Given the description of an element on the screen output the (x, y) to click on. 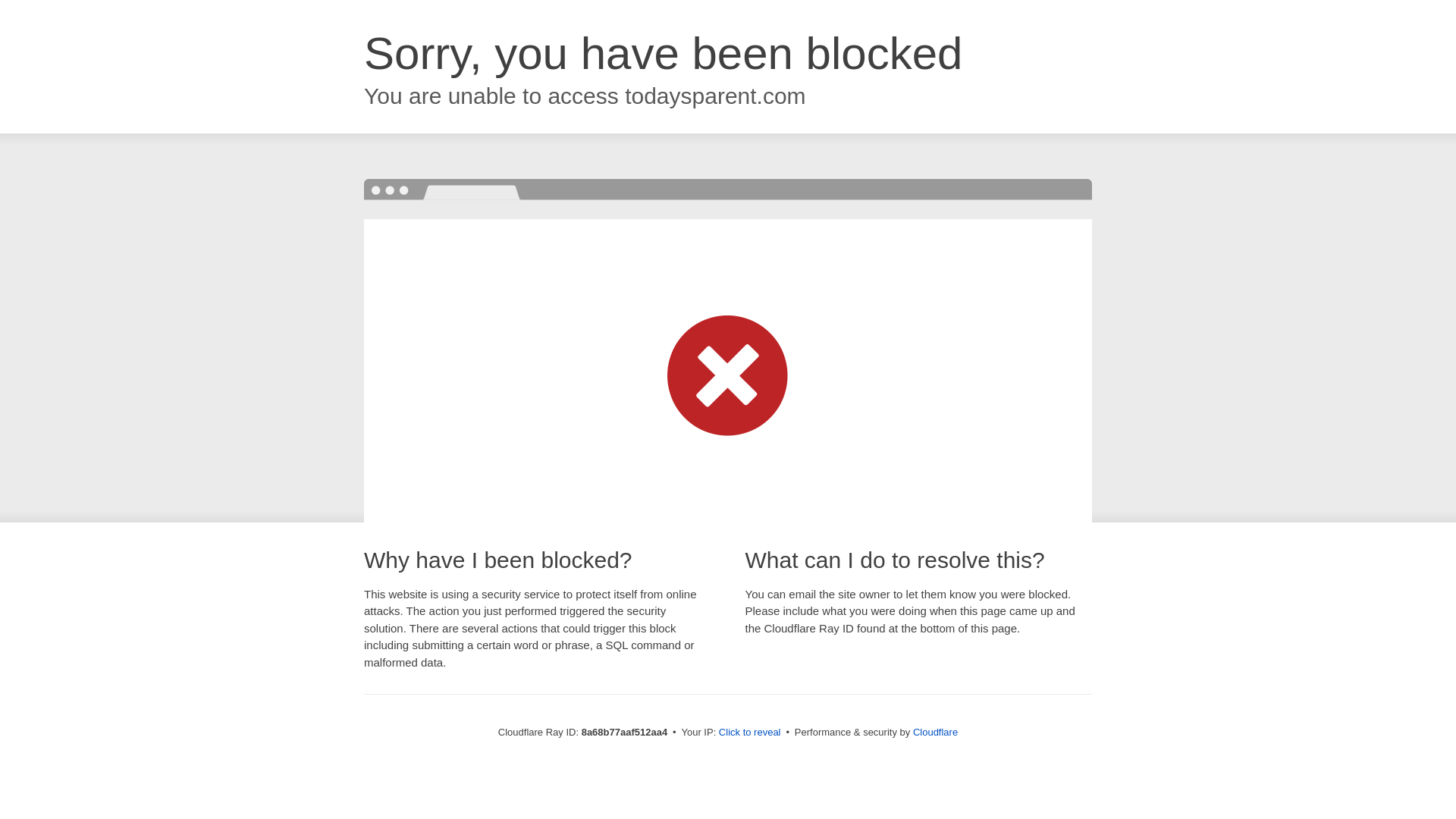
Cloudflare (935, 731)
Click to reveal (749, 732)
